Given the description of an element on the screen output the (x, y) to click on. 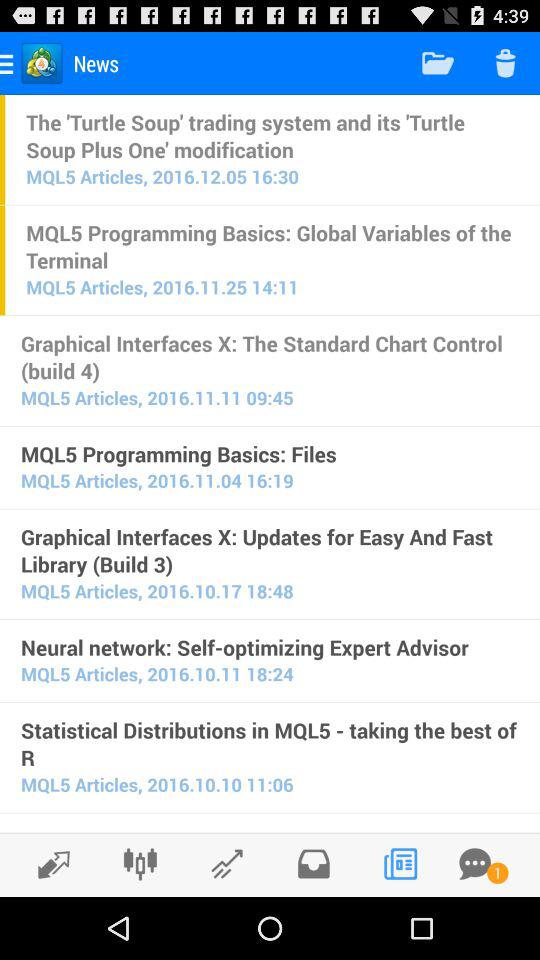
jump to the the turtle soup icon (272, 135)
